Given the description of an element on the screen output the (x, y) to click on. 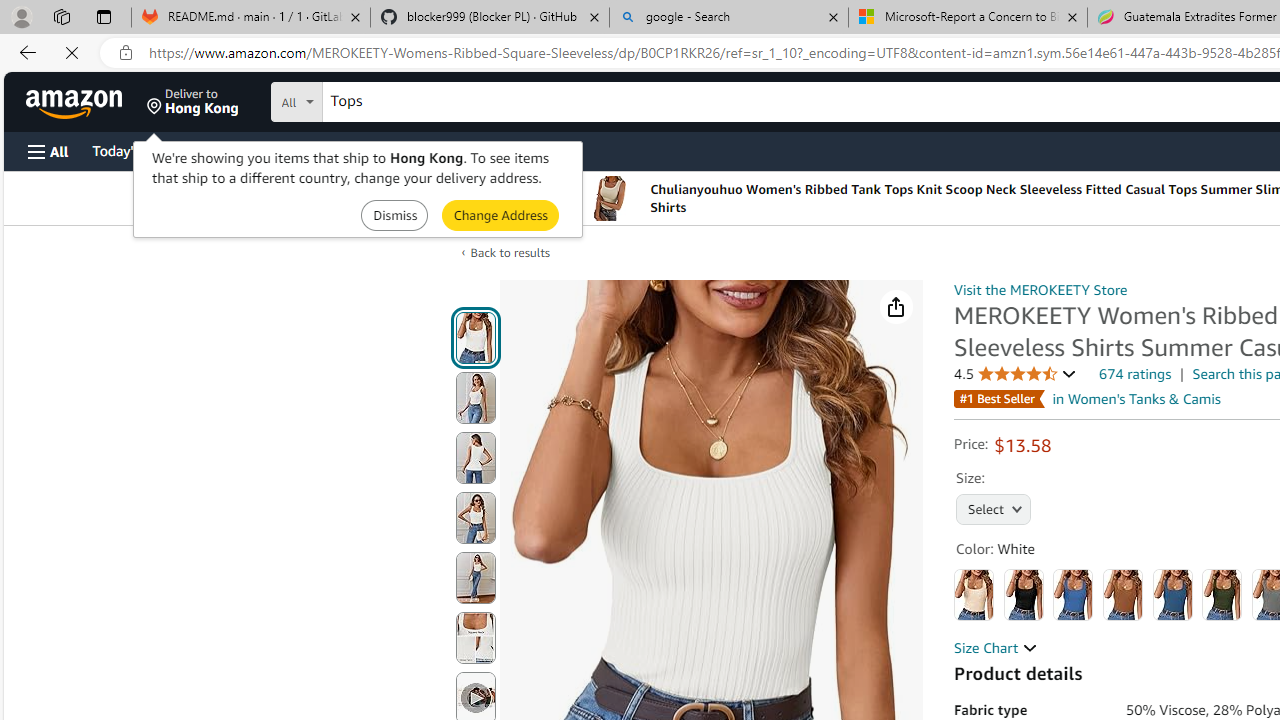
#1 Best Seller in Women's Tanks & Camis (1087, 399)
Caramel (1123, 594)
Green (1222, 594)
Black (1023, 594)
Amazon (76, 101)
Beige (974, 594)
Customer Service (256, 150)
Blue (1073, 594)
Size Chart  (995, 647)
Dusty Blue (1172, 594)
Submit (499, 214)
